Given the description of an element on the screen output the (x, y) to click on. 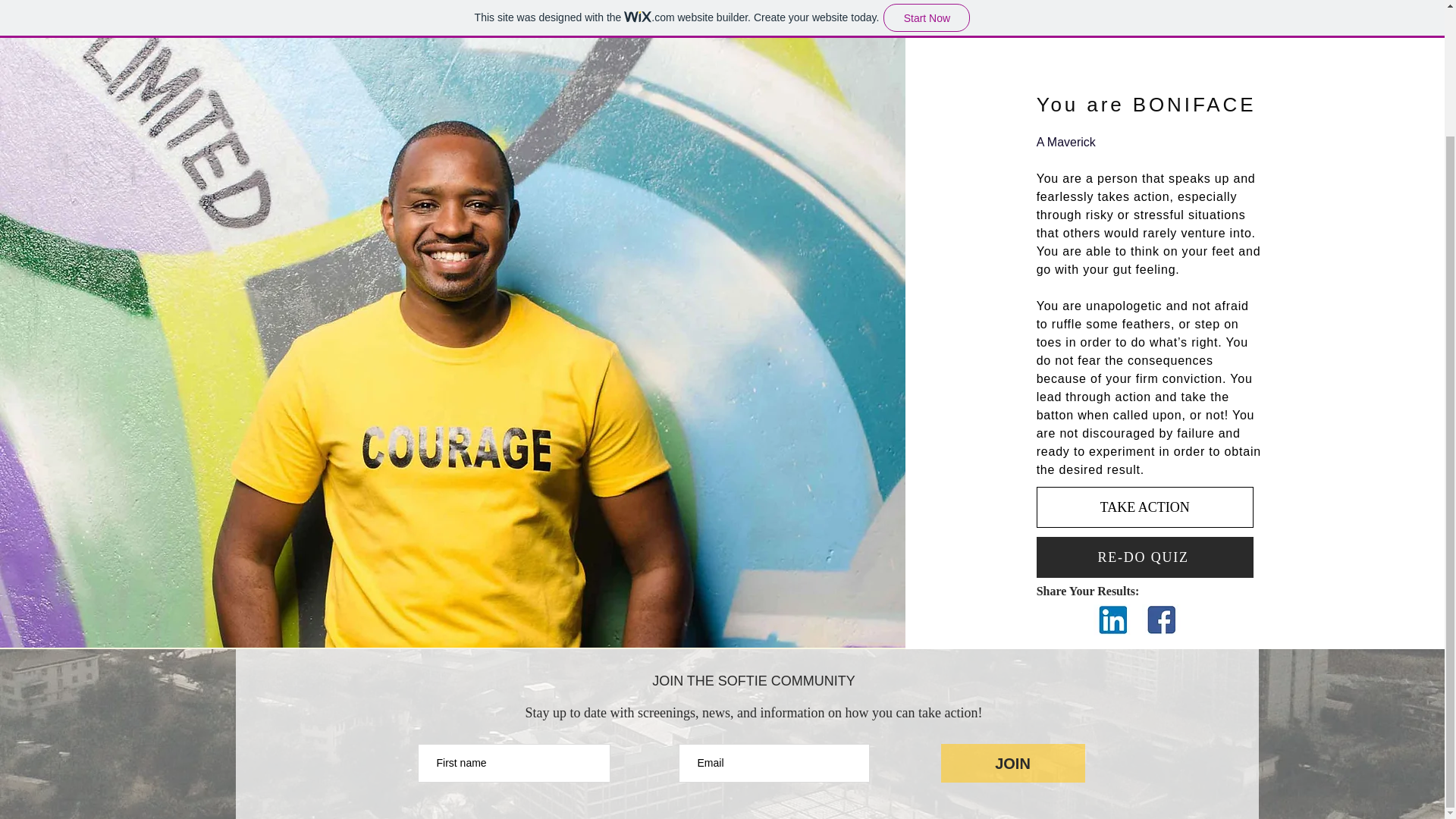
Twitter Tweet (1058, 619)
RE-DO QUIZ (1144, 557)
TAKE ACTION (1144, 506)
JOIN (1012, 762)
